Given the description of an element on the screen output the (x, y) to click on. 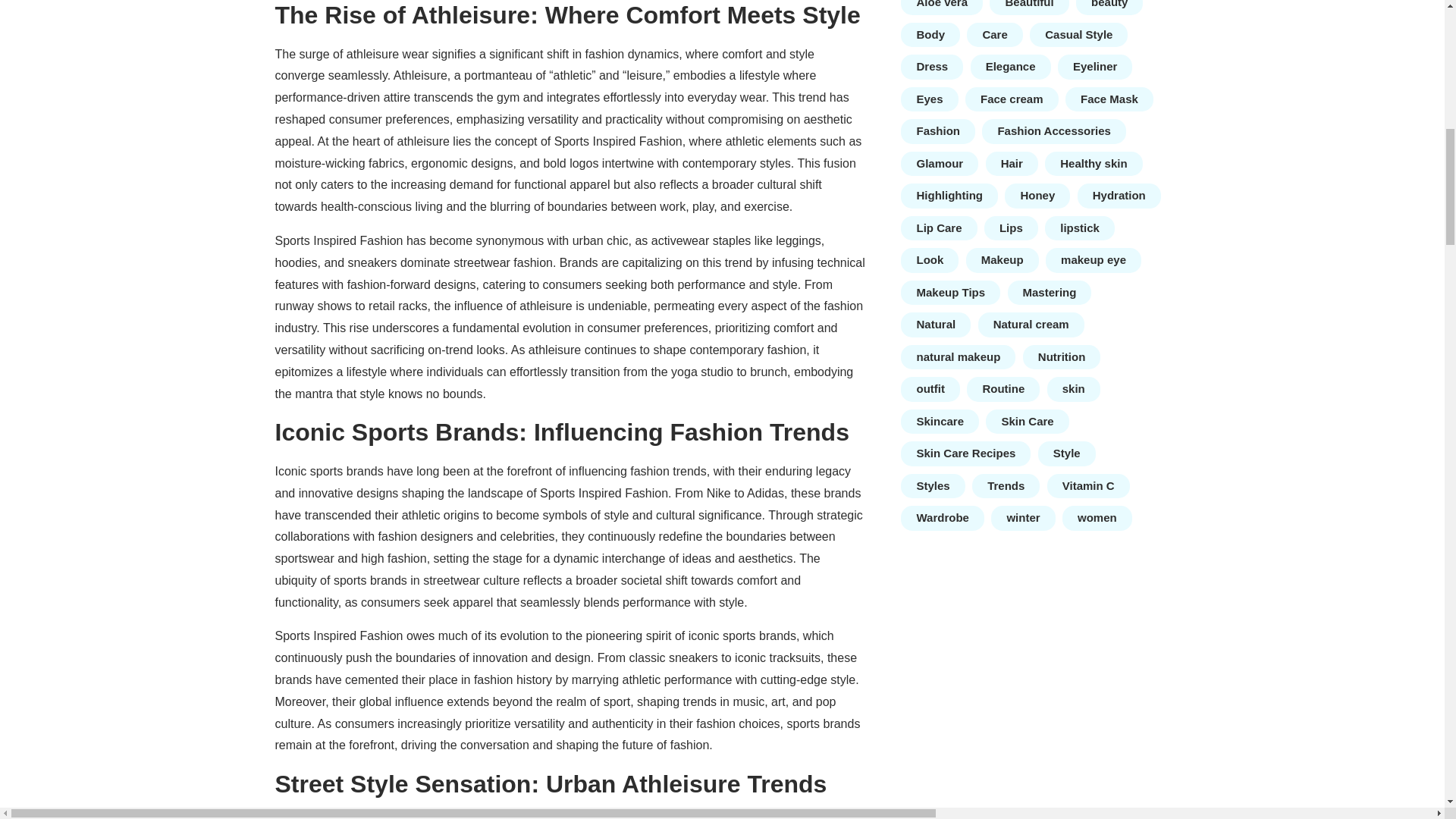
Casual Style (1077, 34)
Dress (931, 66)
Beautiful (1029, 7)
Care (994, 34)
Aloe vera (941, 7)
Elegance (1011, 66)
beauty (1108, 7)
Body (930, 34)
